Given the description of an element on the screen output the (x, y) to click on. 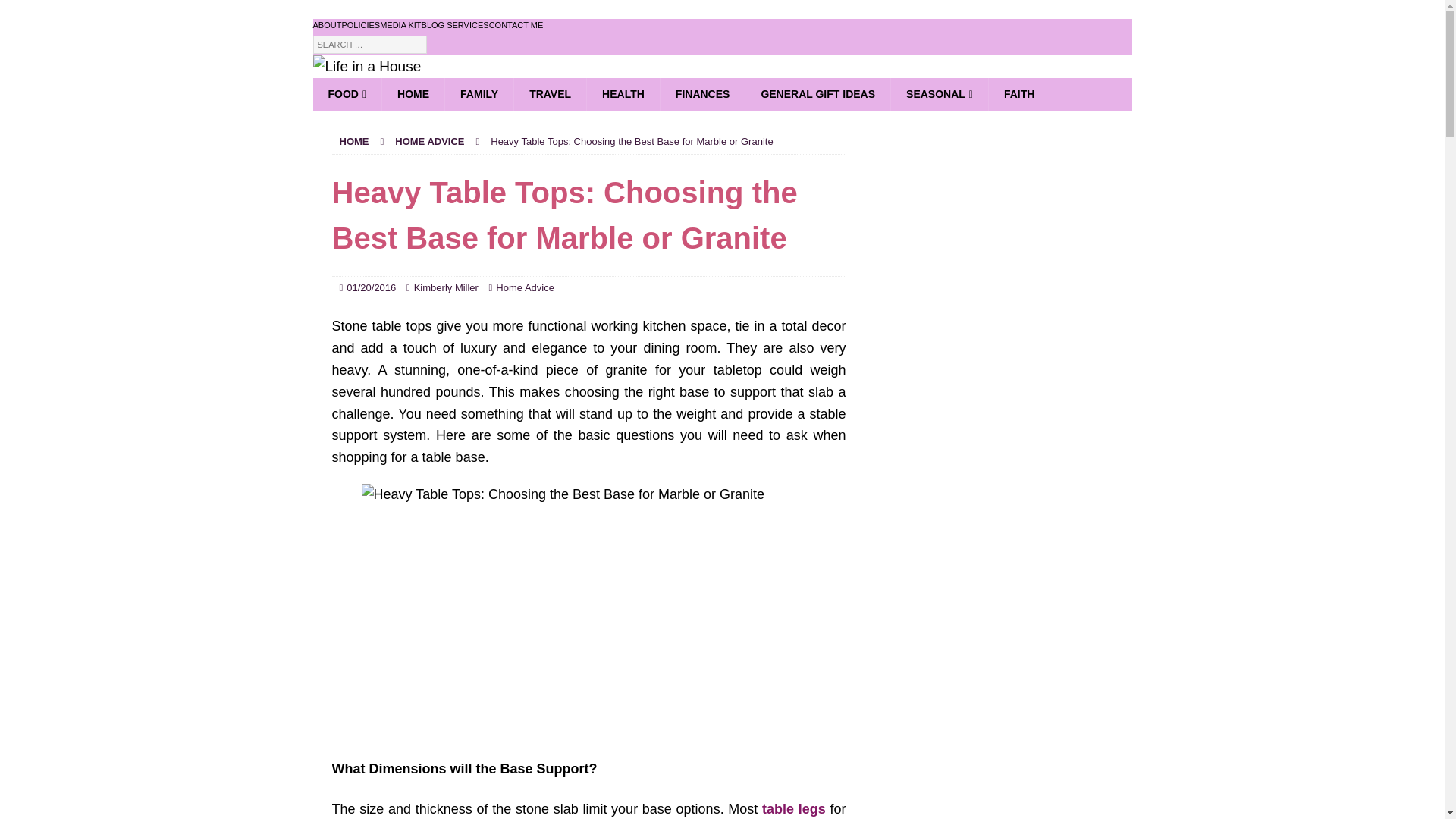
MEDIA KIT (400, 25)
POLICIES (360, 25)
BLOG SERVICES (455, 25)
FAMILY (478, 93)
FINANCES (702, 93)
HOME ADVICE (429, 141)
Home Advice (525, 287)
table legs (793, 808)
SEASONAL (938, 93)
HOME (354, 141)
GENERAL GIFT IDEAS (816, 93)
FOOD (347, 93)
Life in a House (366, 66)
ABOUT (326, 25)
HOME (412, 93)
